Given the description of an element on the screen output the (x, y) to click on. 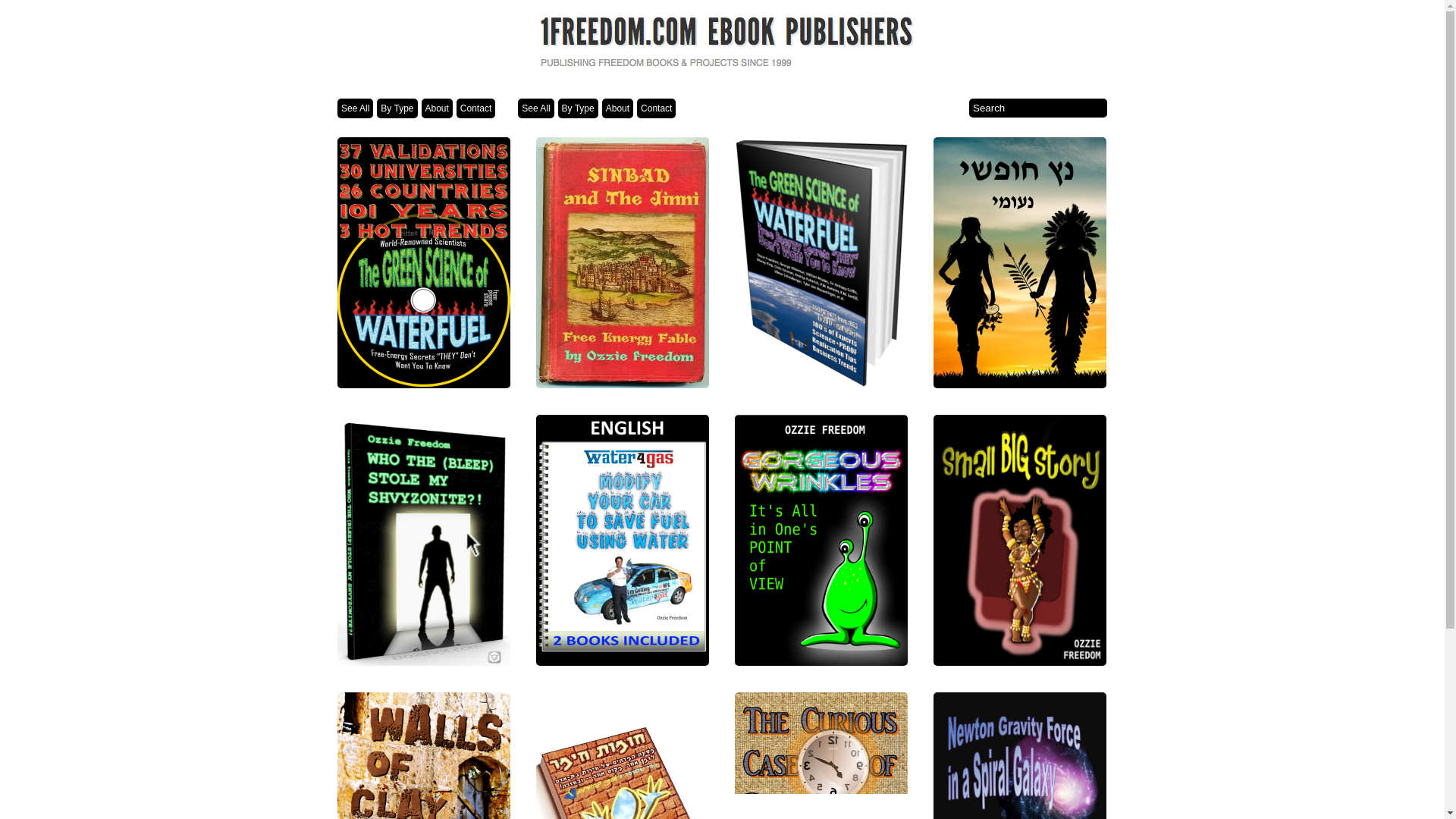
By Type Element type: text (396, 108)
See All Element type: text (535, 108)
By Type Element type: text (578, 108)
Contact Element type: text (656, 108)
About Element type: text (617, 108)
Search Element type: text (1038, 107)
See All Element type: text (355, 108)
About Element type: text (436, 108)
Contact Element type: text (475, 108)
